Given the description of an element on the screen output the (x, y) to click on. 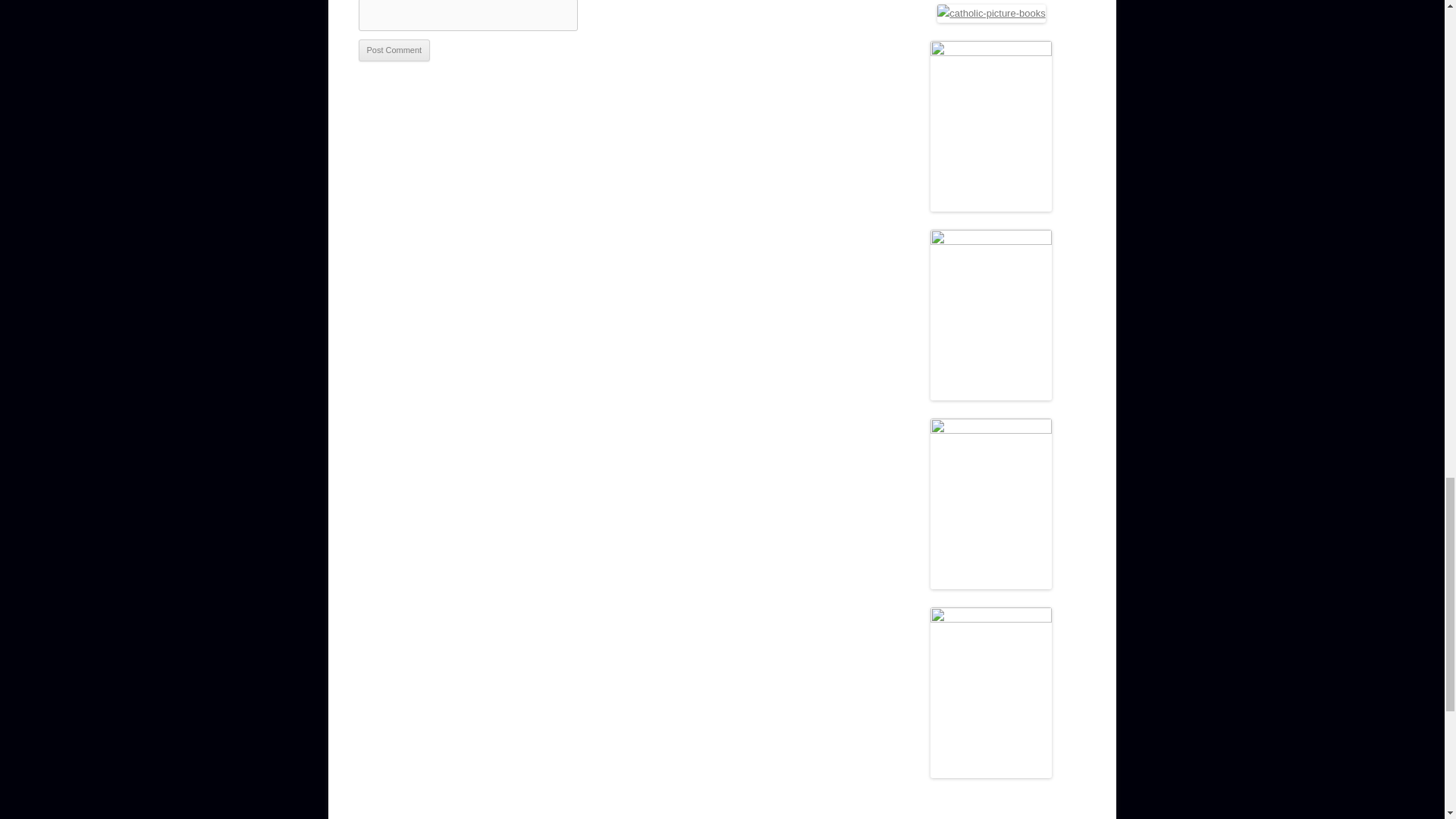
Post Comment (393, 50)
Post Comment (393, 50)
